Given the description of an element on the screen output the (x, y) to click on. 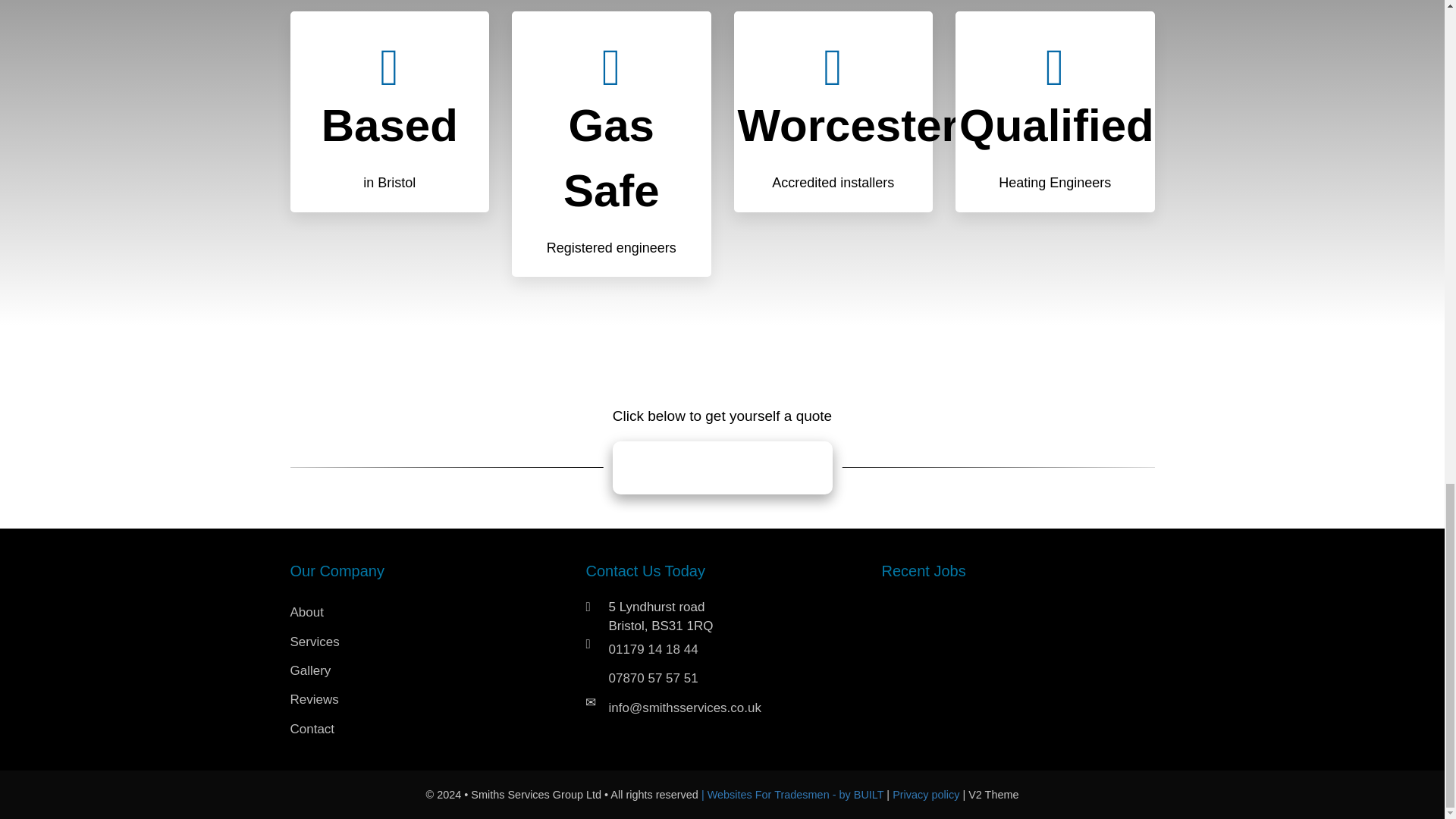
Contact (425, 728)
GET A QUOTE (722, 467)
Services (425, 642)
Reviews (425, 699)
Privacy policy (927, 794)
01179 14 18 44 (733, 649)
Gallery (425, 670)
About (425, 612)
07870 57 57 51 (733, 678)
